Given the description of an element on the screen output the (x, y) to click on. 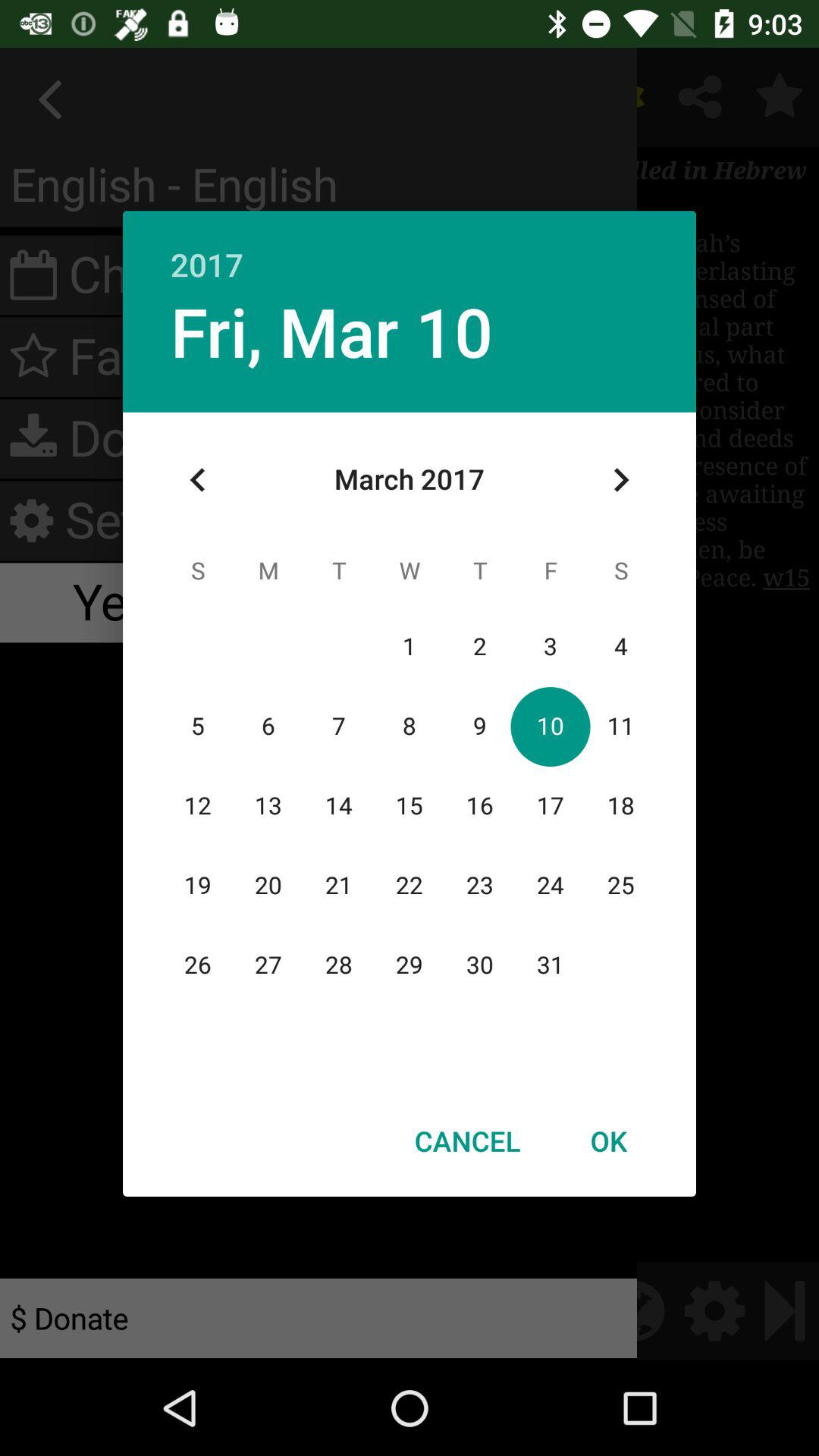
flip to the 2017 app (409, 248)
